Given the description of an element on the screen output the (x, y) to click on. 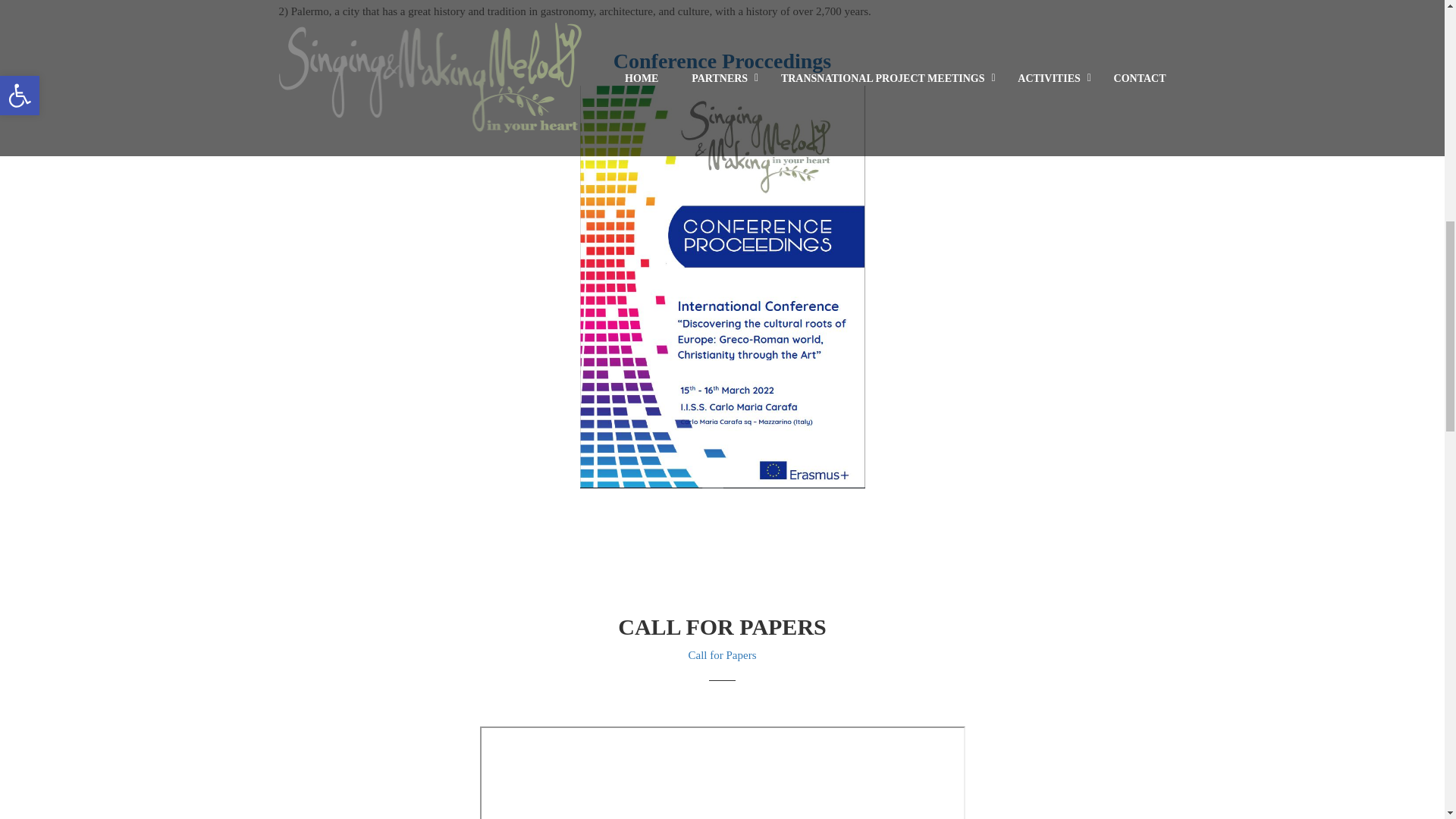
Call for Papers (722, 654)
Conference Proccedings (721, 60)
